Given the description of an element on the screen output the (x, y) to click on. 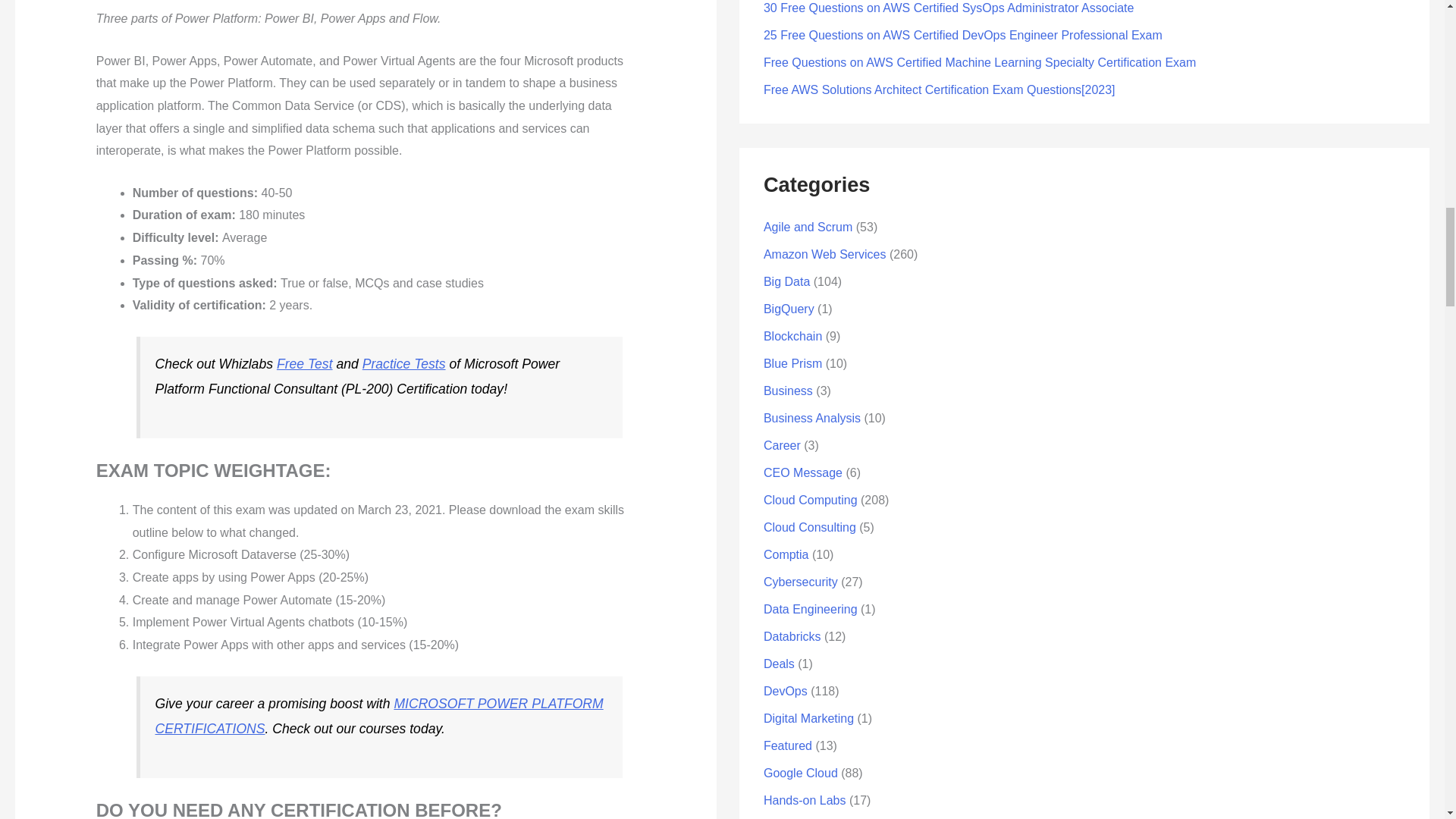
MICROSOFT POWER PLATFORM CERTIFICATIONS (379, 716)
Practice Tests (403, 363)
Free Test (304, 363)
